Given the description of an element on the screen output the (x, y) to click on. 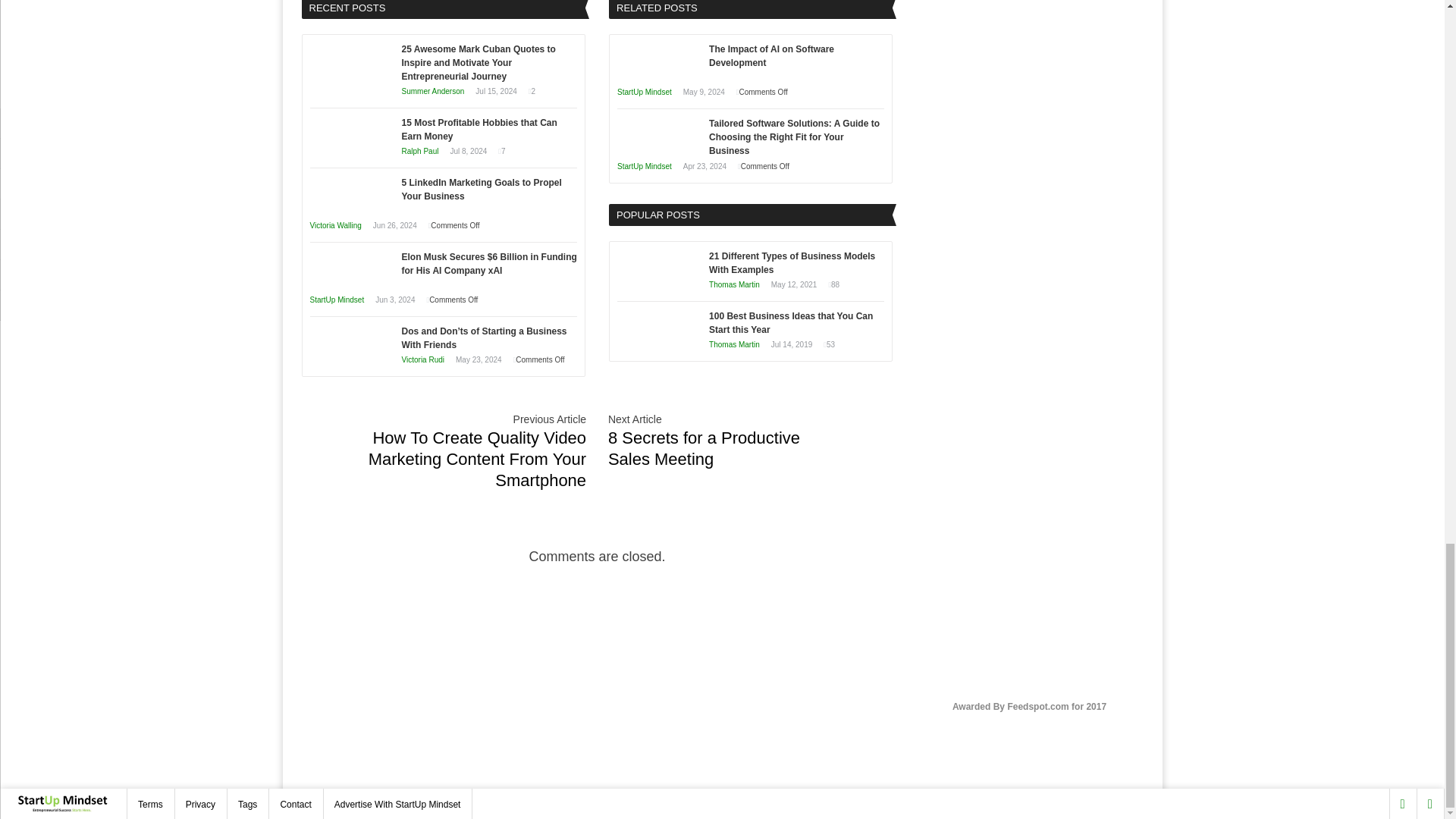
Posts by Thomas Martin (734, 284)
Posts by Ralph Paul (420, 151)
Posts by Victoria Rudi (423, 359)
Posts by StartUp Mindset (336, 299)
Posts by StartUp Mindset (644, 166)
Posts by Summer Anderson (432, 90)
Posts by Victoria Walling (334, 225)
Posts by Thomas Martin (734, 344)
Posts by StartUp Mindset (644, 91)
